Given the description of an element on the screen output the (x, y) to click on. 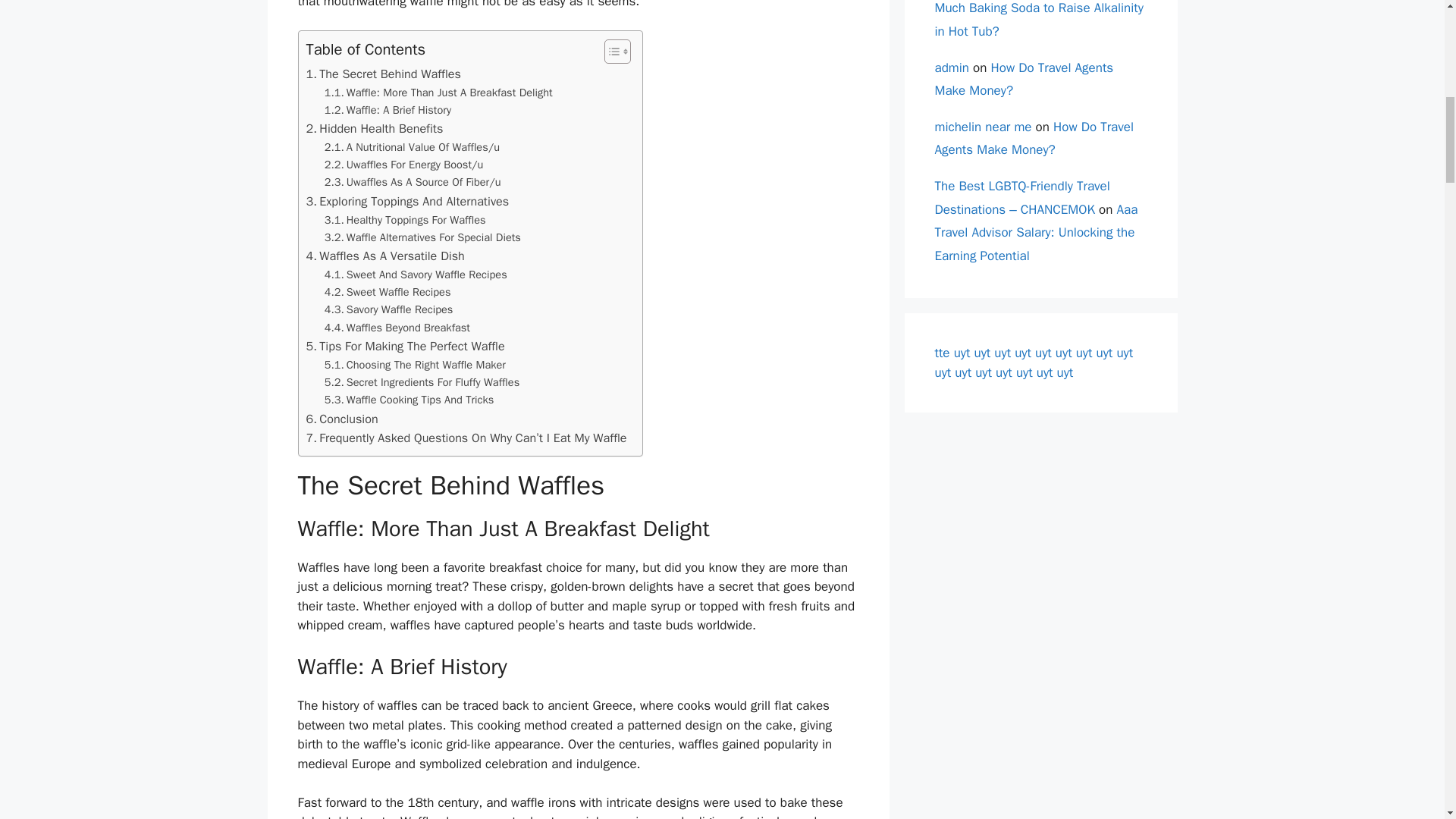
Choosing The Right Waffle Maker (414, 364)
Hidden Health Benefits (374, 128)
Waffle: More Than Just A Breakfast Delight (438, 92)
The Secret Behind Waffles (383, 74)
The Secret Behind Waffles (383, 74)
Savory Waffle Recipes (388, 309)
Sweet Waffle Recipes (387, 292)
Healthy Toppings For Waffles (405, 220)
Secret Ingredients For Fluffy Waffles (421, 382)
Waffles Beyond Breakfast (397, 327)
